Given the description of an element on the screen output the (x, y) to click on. 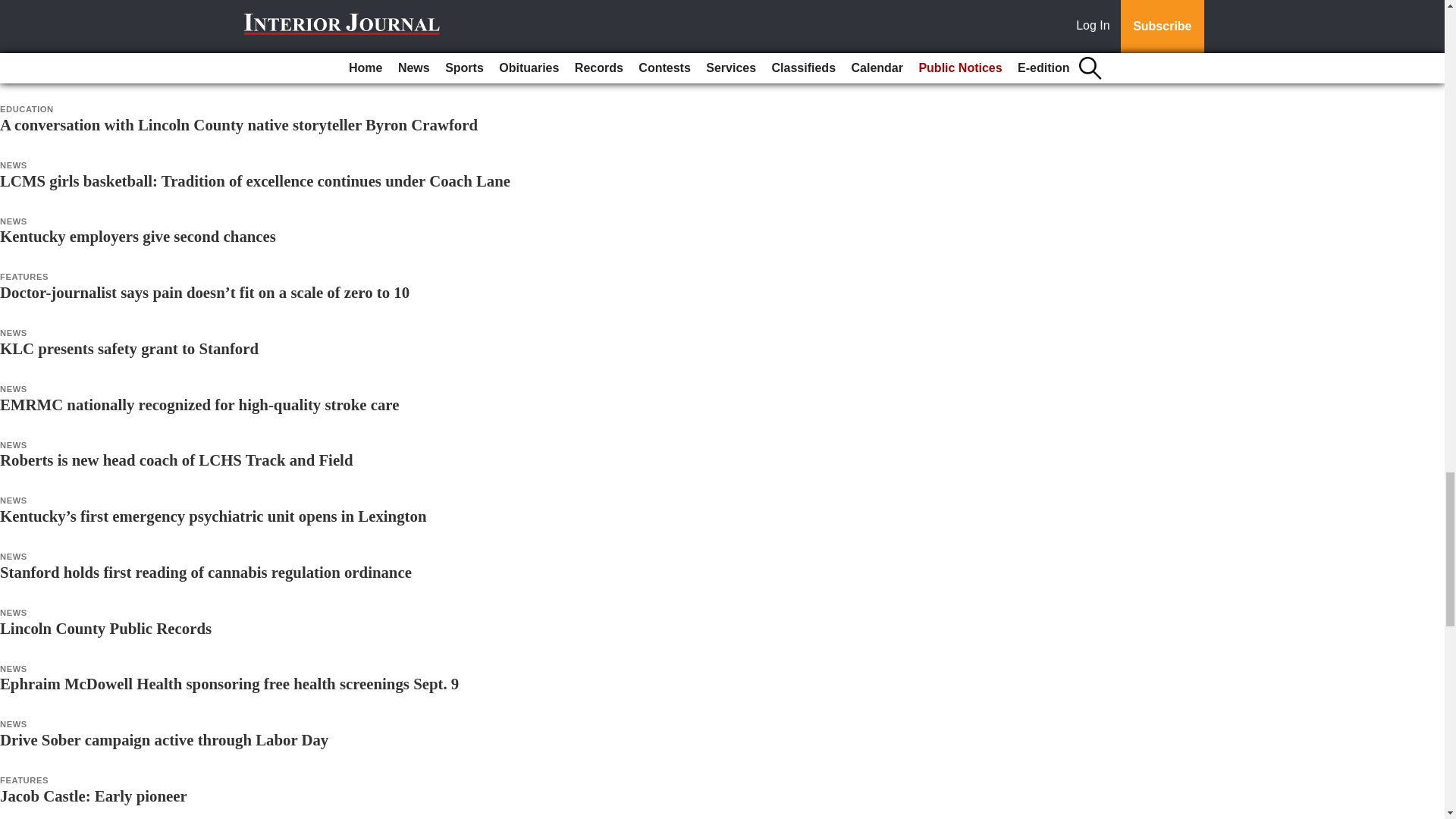
Pope lands in-state four-star Malachi Moreno (153, 12)
Lincoln Schools staff received awards at Opening Day event (201, 67)
EMRMC nationally recognized for high-quality stroke care (199, 404)
Kentucky employers give second chances (138, 235)
Kentucky employers give second chances (138, 235)
